Given the description of an element on the screen output the (x, y) to click on. 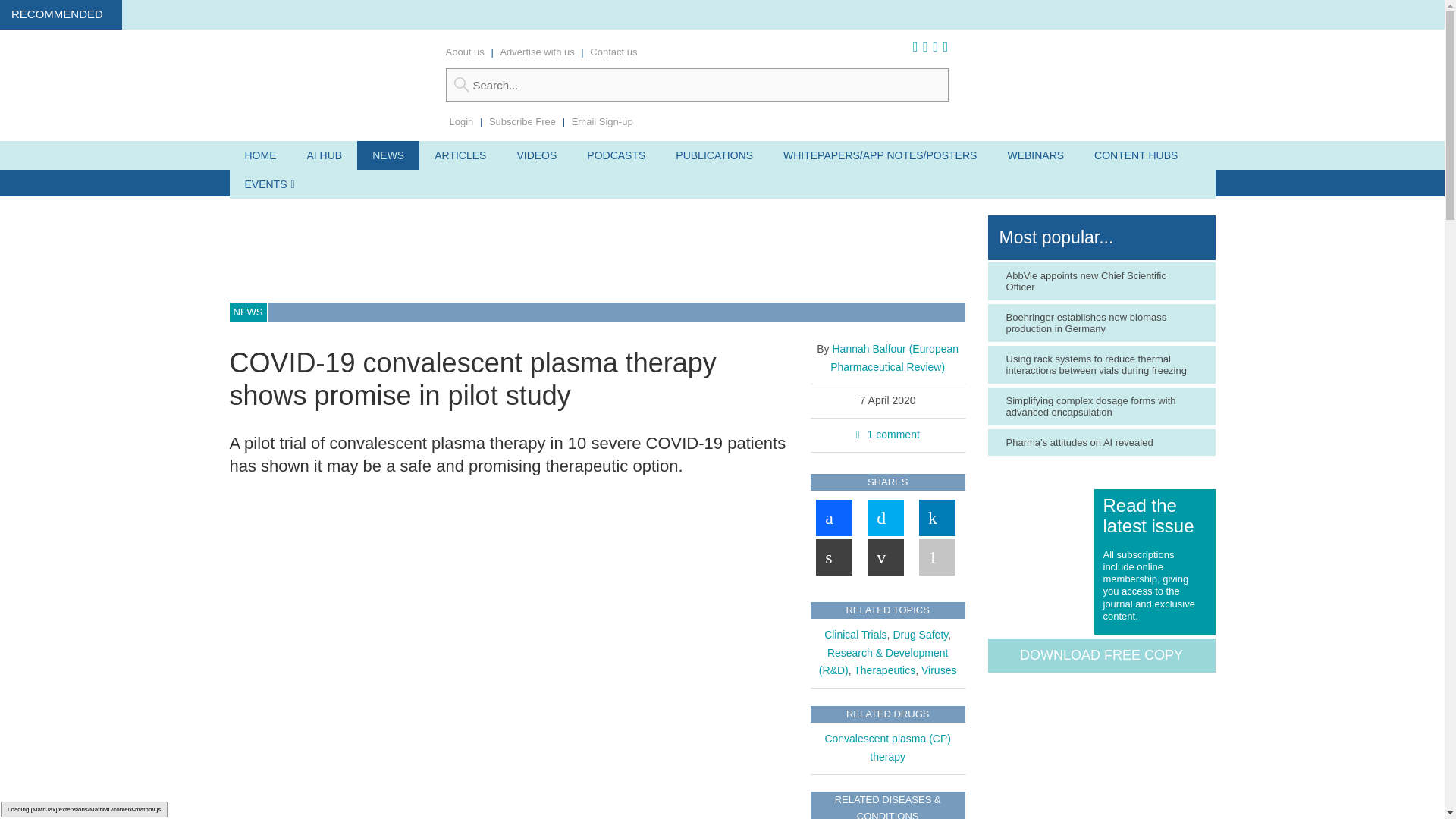
Search (697, 84)
Advertise with us (536, 51)
Subscribe Free (522, 121)
EVENTS (264, 184)
CONTENT HUBS (1135, 154)
Login (460, 121)
VIDEOS (536, 154)
AI HUB (323, 154)
DRUG DELIVERY (531, 182)
Subscribe Free (522, 121)
PODCASTS (616, 154)
BIOPHARMA (430, 182)
WEBINARS (1034, 154)
HOME (259, 154)
ANALYTICAL TECHNIQUES (306, 182)
